Given the description of an element on the screen output the (x, y) to click on. 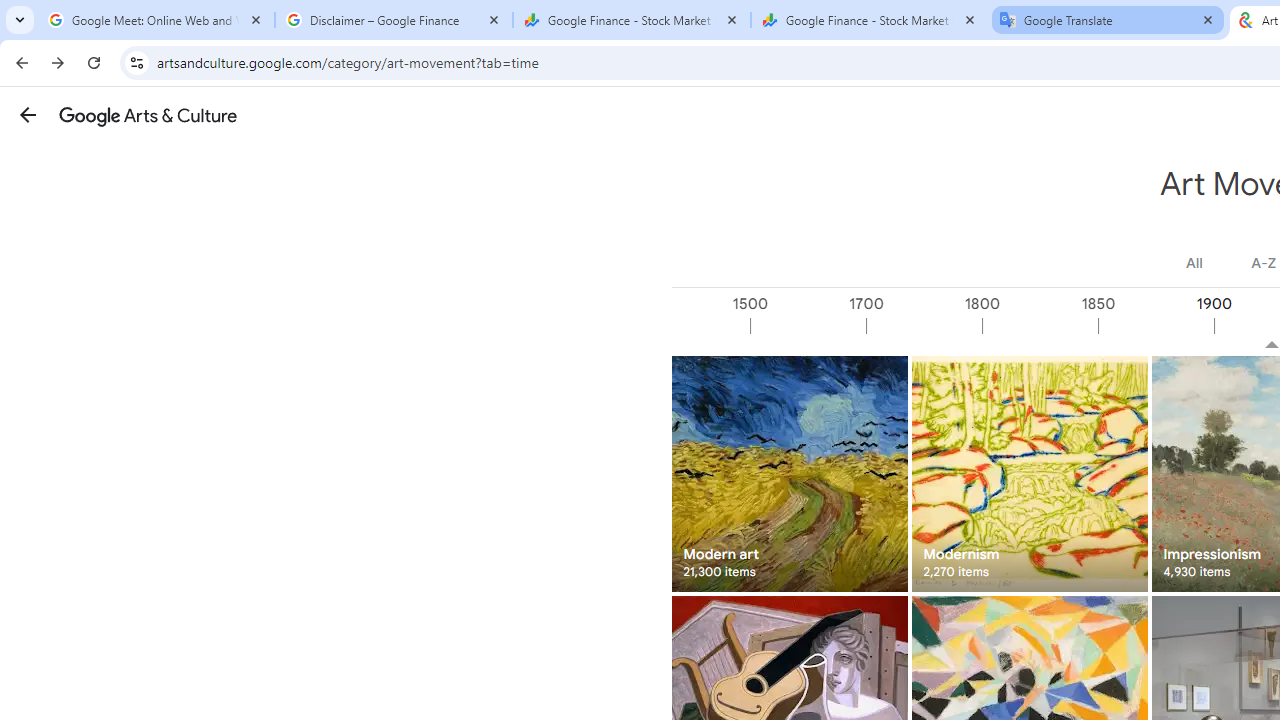
1850 (1154, 326)
Modernism 2,270 items (1029, 473)
Modern art 21,300 items (788, 473)
All (1194, 263)
